Given the description of an element on the screen output the (x, y) to click on. 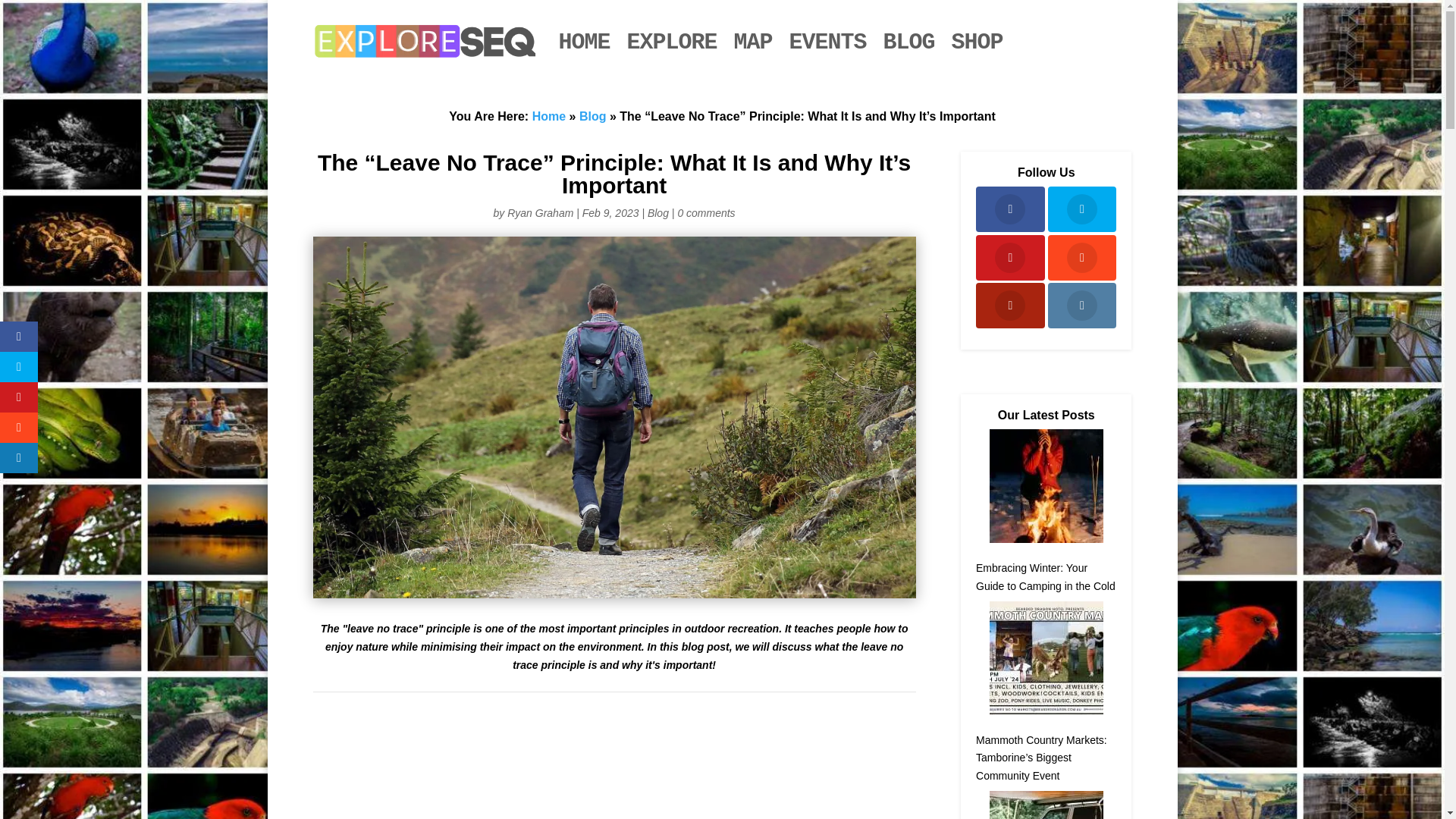
Embracing Winter: Your Guide to Camping in the Cold 1 (1046, 485)
Embracing Winter: Your Guide to Camping in the Cold (1045, 576)
Advertisement (654, 764)
0 comments (706, 213)
HOME (583, 42)
Ryan Graham (539, 213)
SHOP (977, 42)
EVENTS (827, 42)
